Given the description of an element on the screen output the (x, y) to click on. 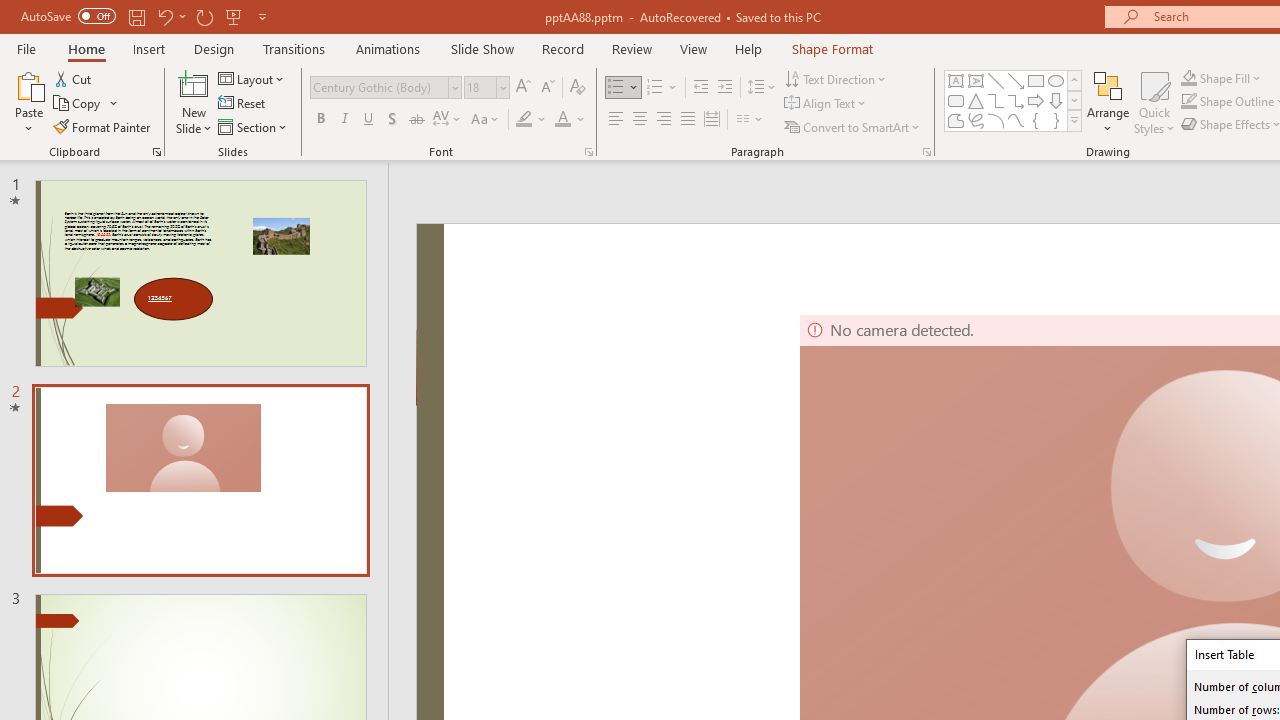
Shape Fill Aqua, Accent 2 (1188, 78)
